Given the description of an element on the screen output the (x, y) to click on. 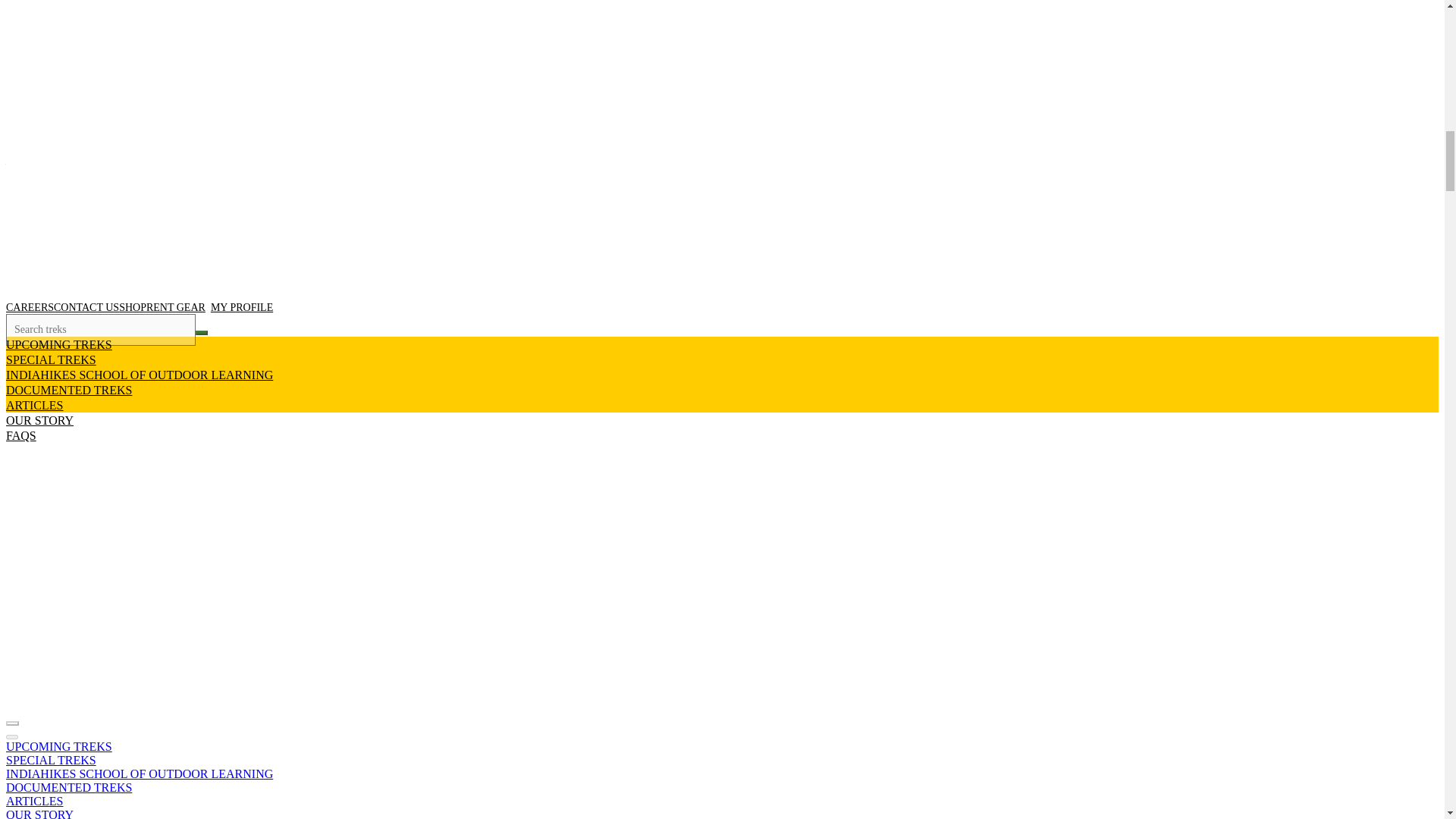
Aditya Bodke (45, 334)
